Given the description of an element on the screen output the (x, y) to click on. 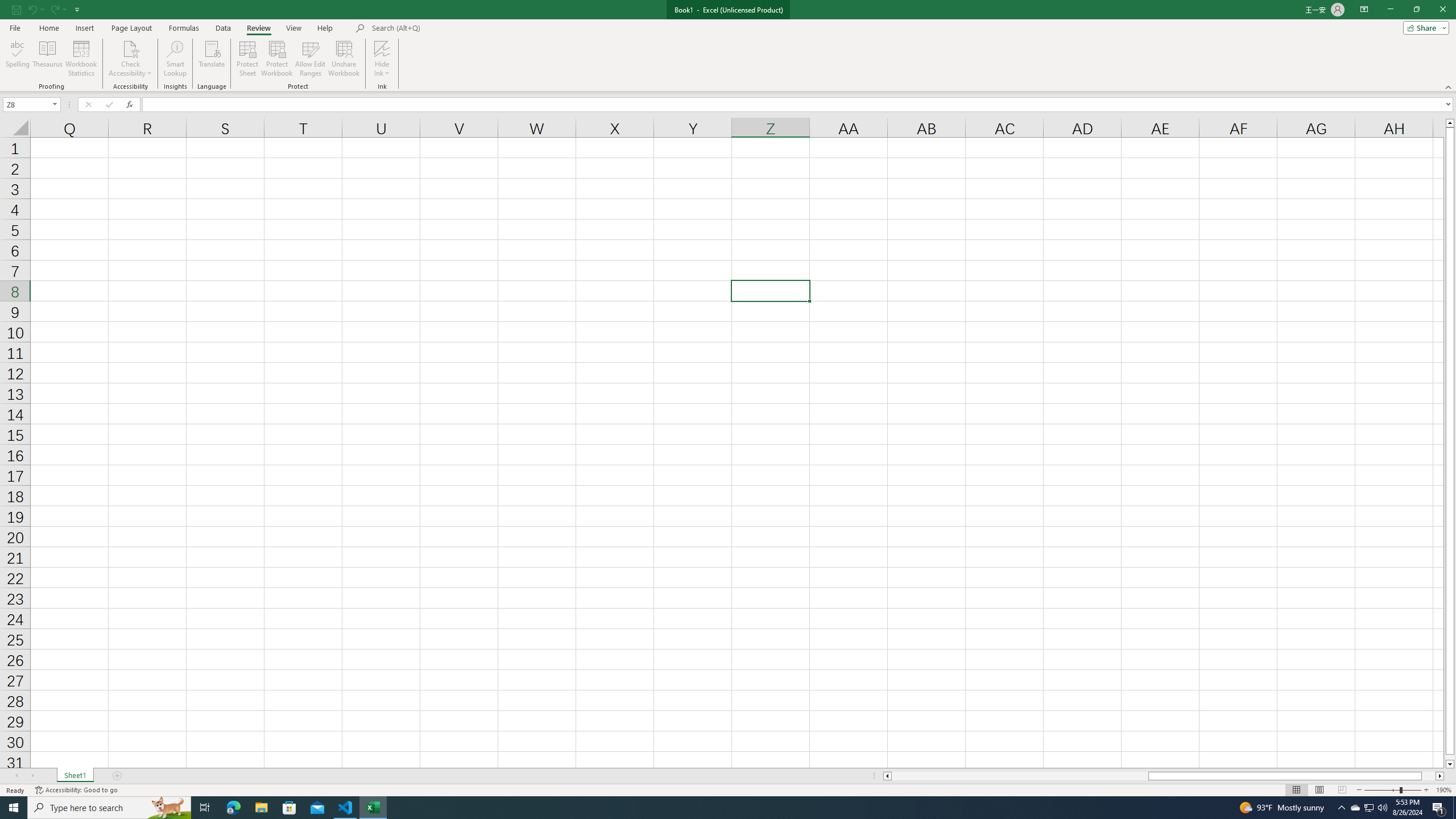
Check Accessibility (129, 58)
Formula Bar (798, 104)
Check Accessibility (129, 48)
Class: MsoCommandBar (728, 45)
